Given the description of an element on the screen output the (x, y) to click on. 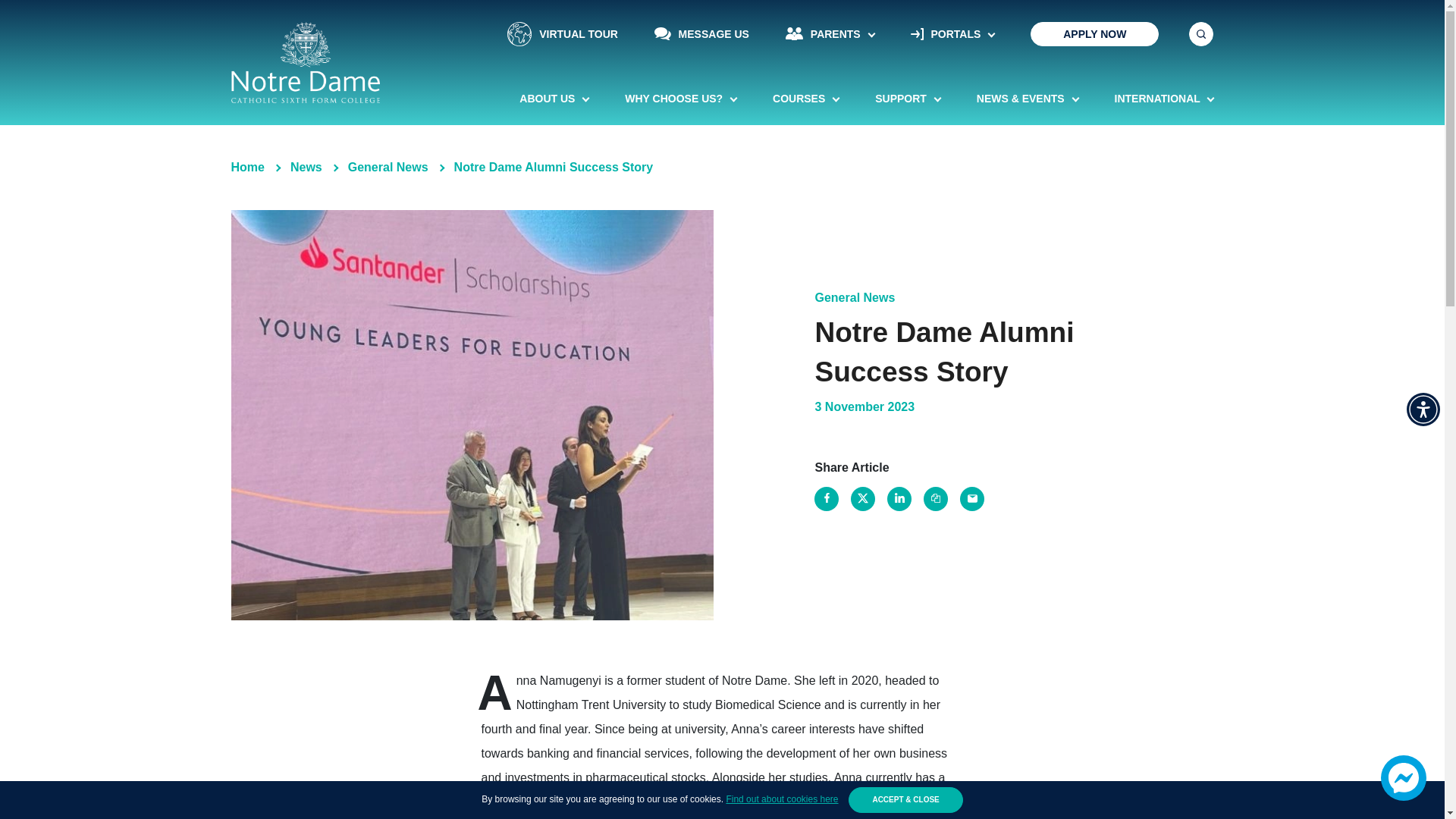
PORTALS (952, 33)
MESSAGE US (701, 33)
PARENTS (829, 33)
ABOUT US (553, 98)
Accessibility Menu (1422, 409)
APPLY NOW (1094, 33)
VIRTUAL TOUR (562, 33)
